Given the description of an element on the screen output the (x, y) to click on. 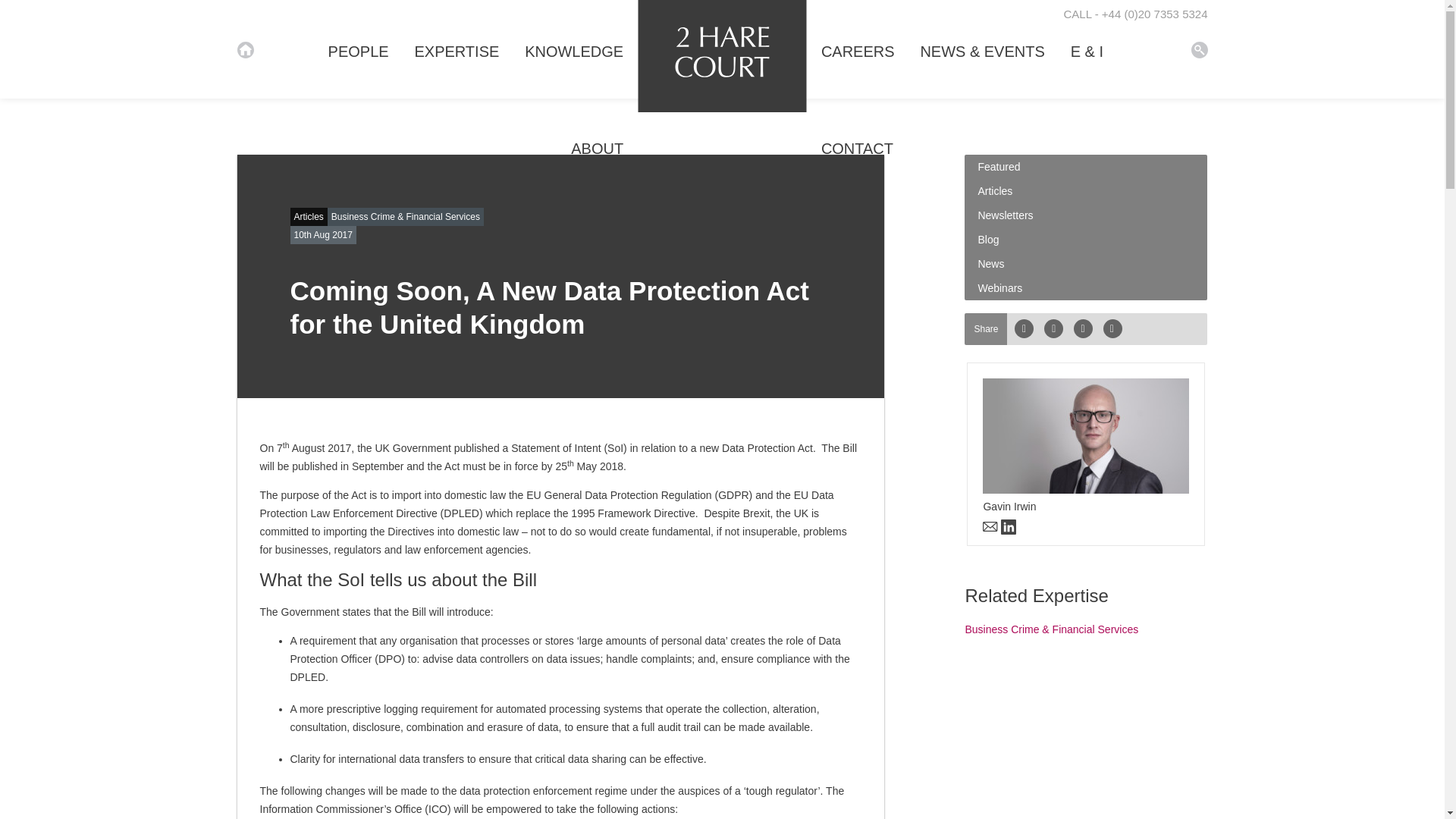
Home (244, 49)
KNOWLEDGE (573, 48)
CONTACT (857, 145)
Home (1199, 49)
EXPERTISE (456, 48)
PEOPLE (358, 48)
ABOUT (596, 145)
CAREERS (858, 48)
